Given the description of an element on the screen output the (x, y) to click on. 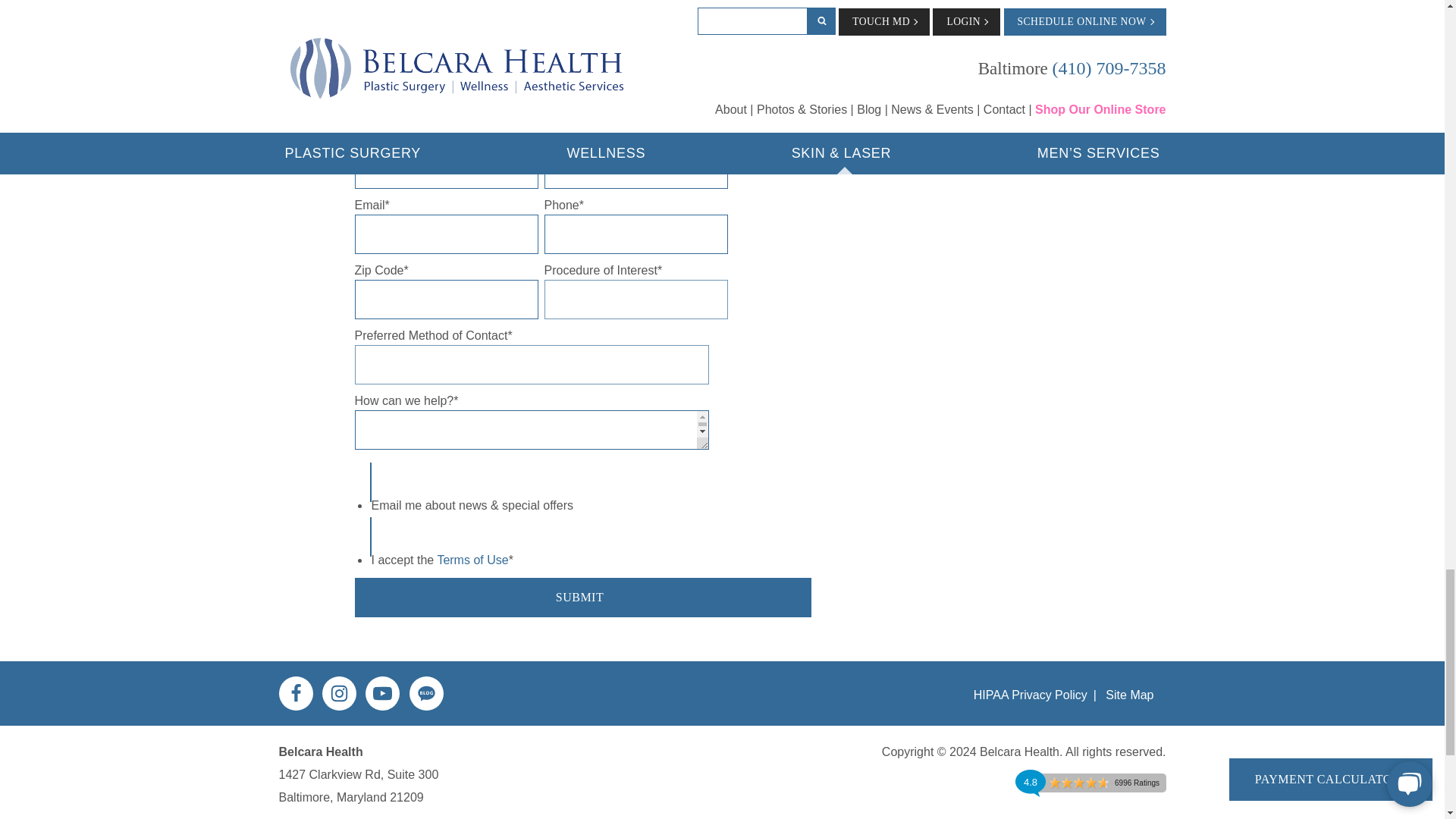
Submit (582, 597)
